Given the description of an element on the screen output the (x, y) to click on. 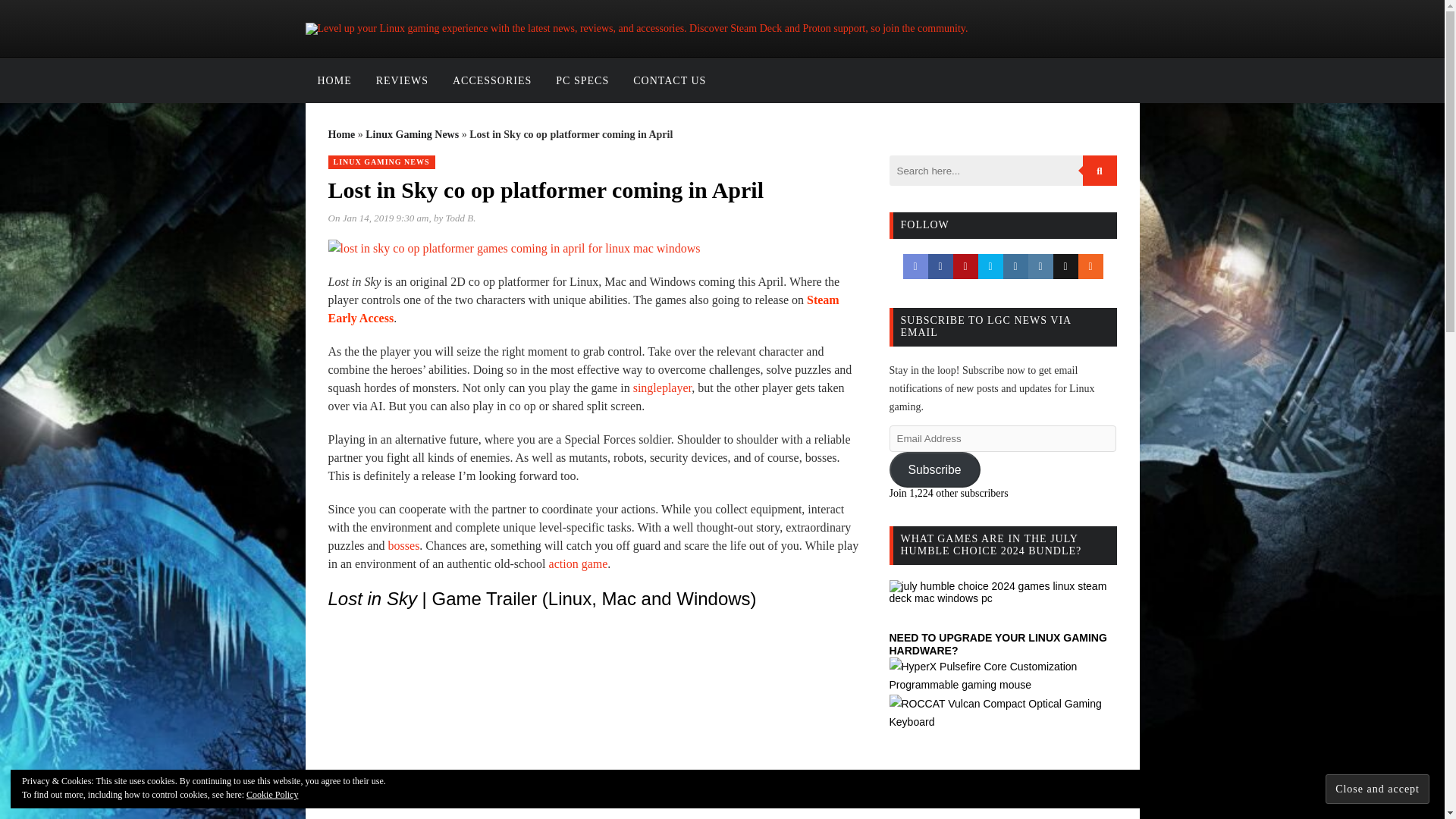
Steam Early Access (582, 308)
LINUX GAMING NEWS (380, 161)
PC SPECS (582, 80)
ACCESSORIES (492, 80)
singleplayer (663, 387)
Home (341, 134)
Todd B. (460, 217)
On Jan 14, 2019 9:30 am (377, 217)
What games are in the July Humble Choice 2024 bundle? (1002, 591)
HOME (333, 80)
Close and accept (1376, 788)
CONTACT US (669, 80)
REVIEWS (402, 80)
bosses (404, 545)
